Given the description of an element on the screen output the (x, y) to click on. 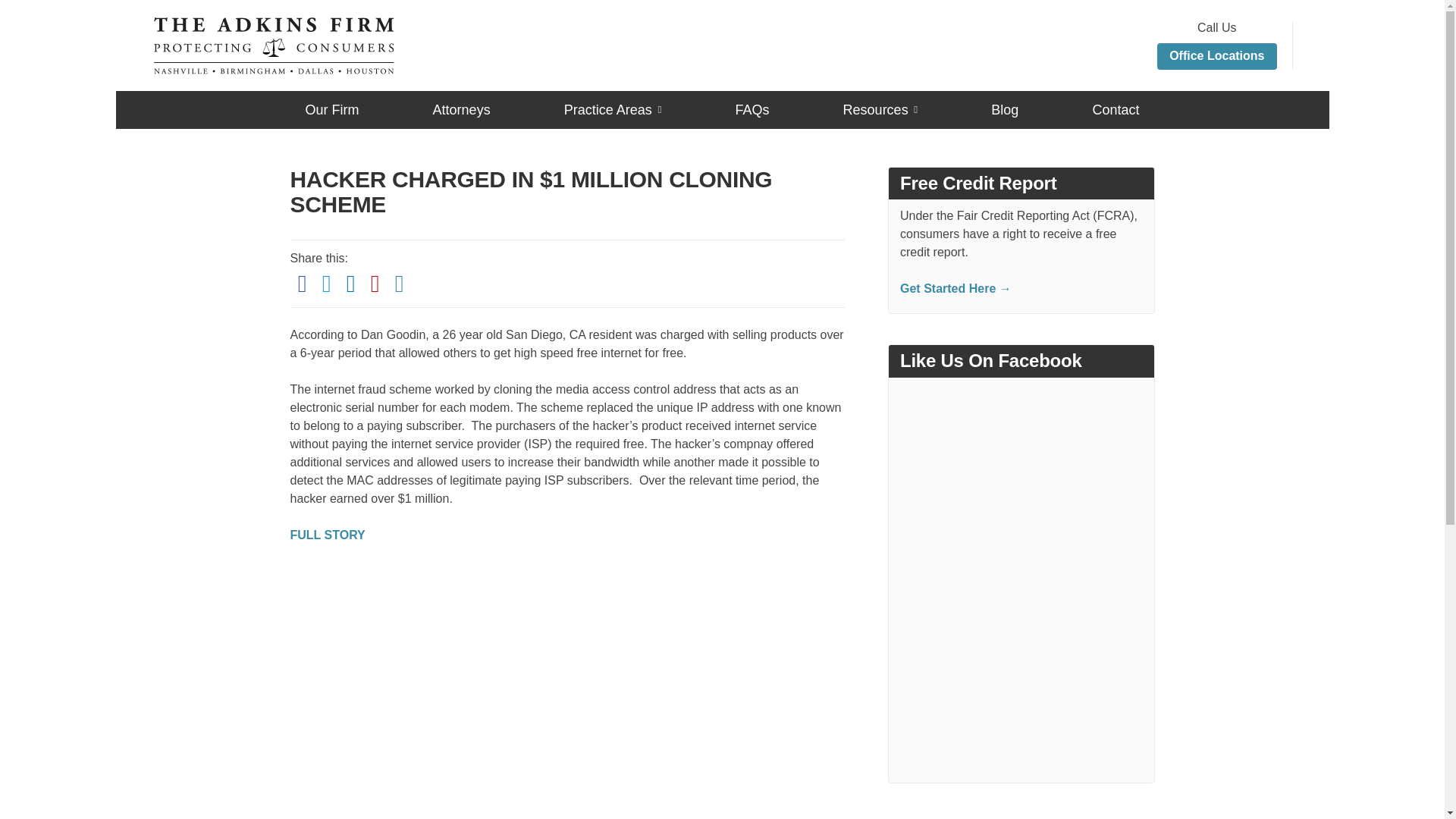
Contact (1115, 109)
Attorneys (461, 109)
Blog (1004, 109)
FULL STORY (327, 534)
FAQs (751, 109)
Our Firm (331, 109)
Practice Areas (613, 115)
Resources (880, 115)
